Given the description of an element on the screen output the (x, y) to click on. 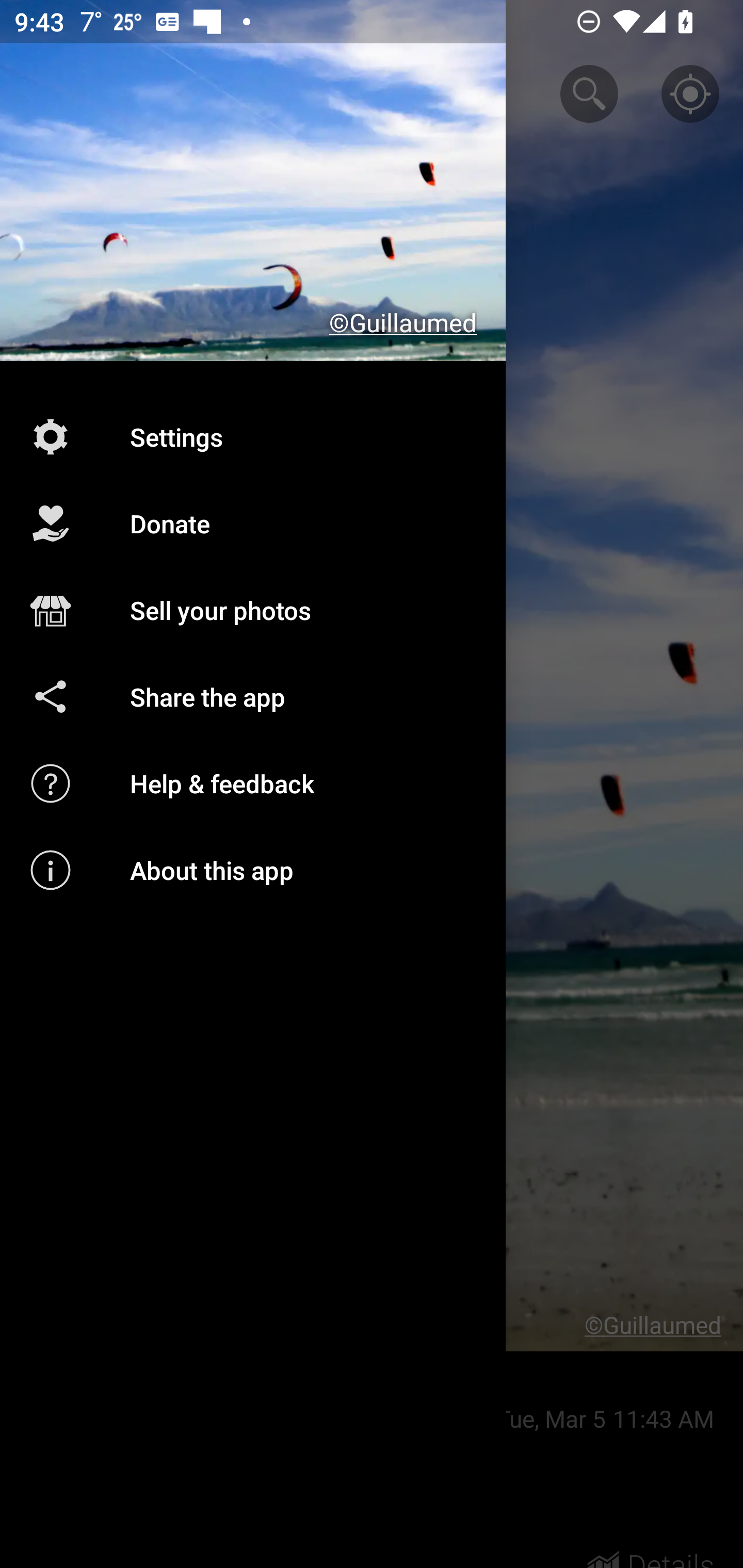
©Guillaumed (252, 180)
Settings (252, 436)
Donate (252, 523)
Sell your photos (252, 610)
Share the app (252, 696)
Help & feedback (252, 783)
About this app (252, 870)
